Given the description of an element on the screen output the (x, y) to click on. 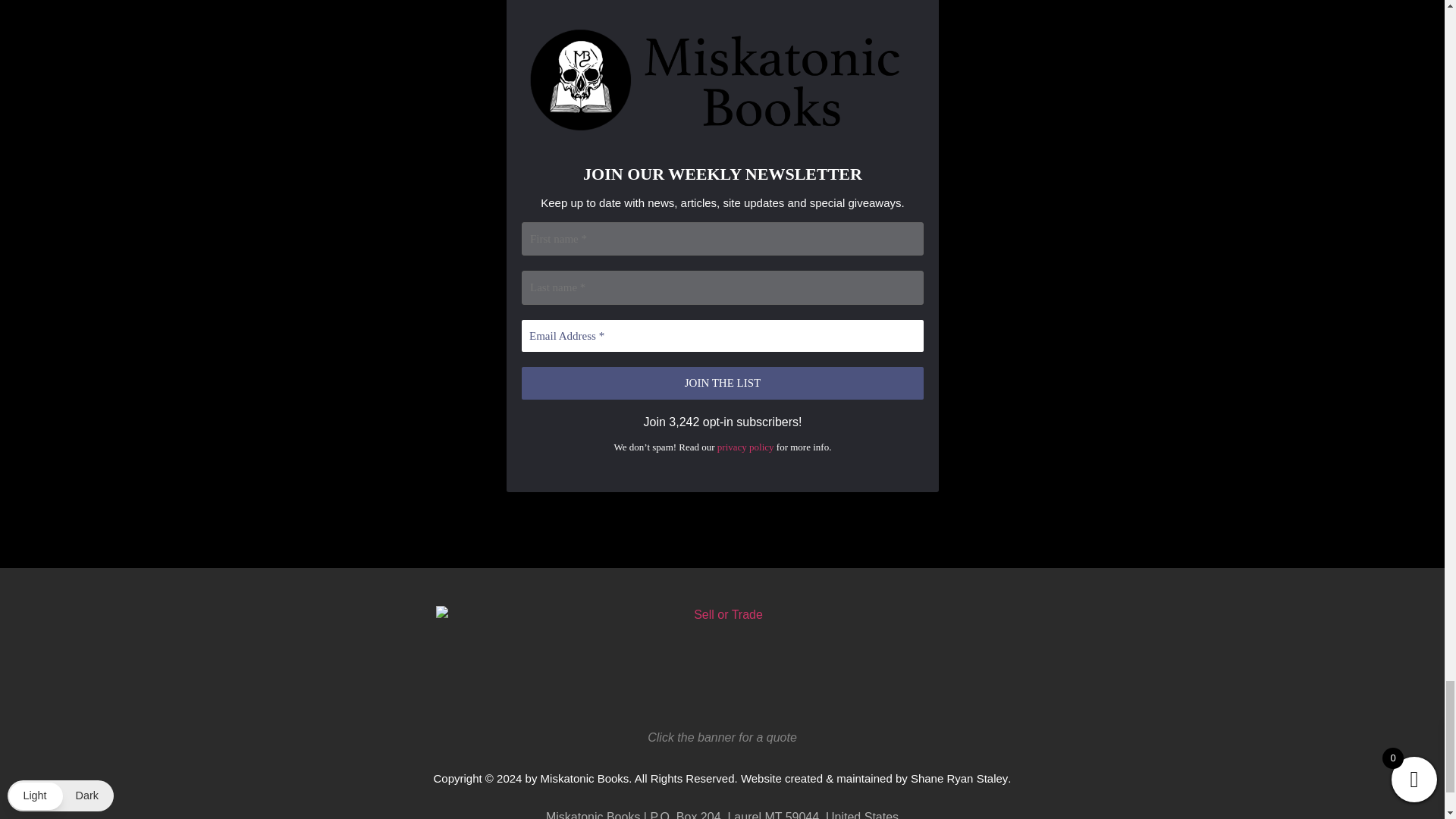
Last name (722, 288)
First name (722, 238)
Email Address (722, 336)
JOIN THE LIST (722, 383)
